Given the description of an element on the screen output the (x, y) to click on. 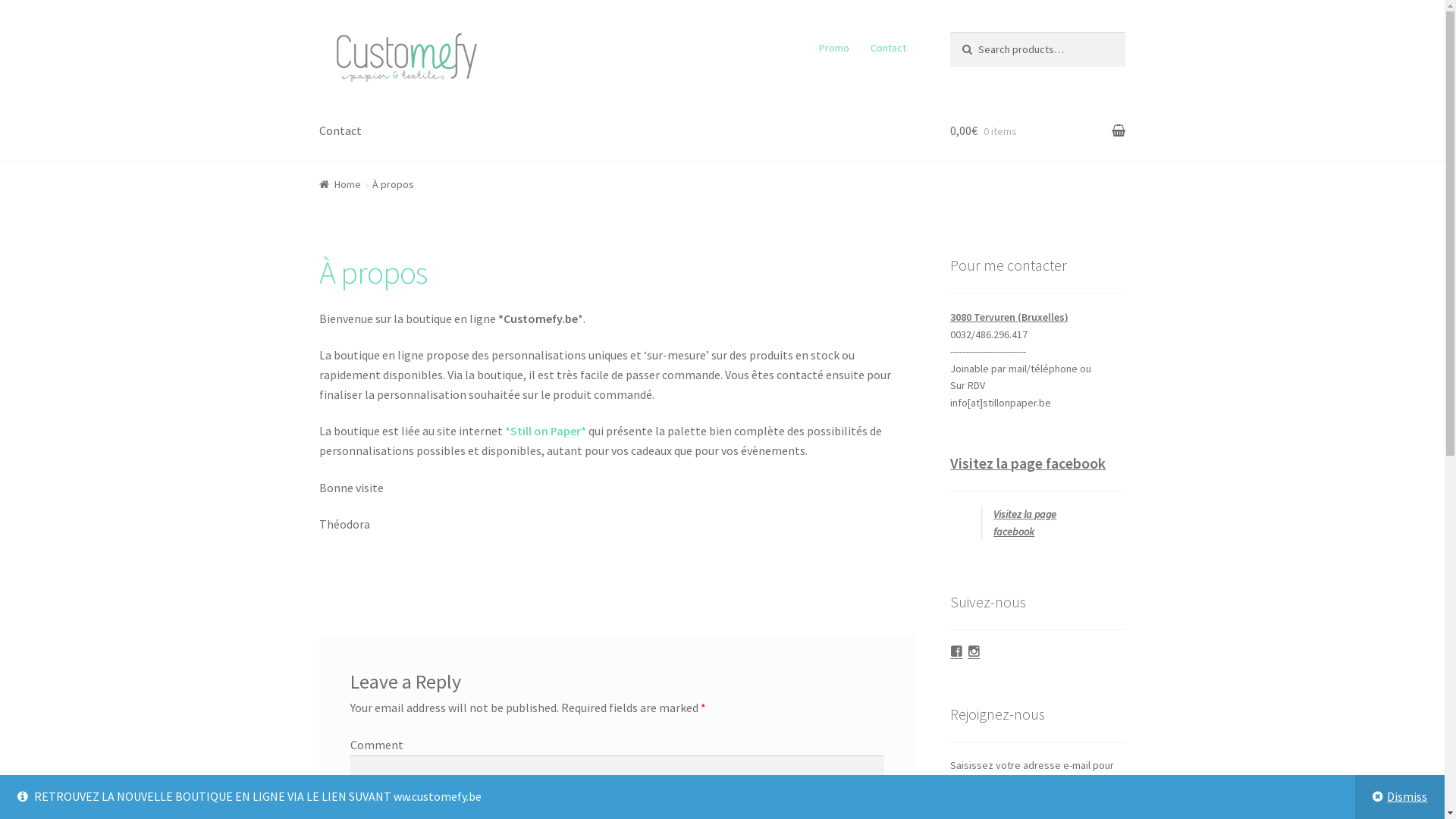
Skip to navigation Element type: text (366, 41)
Visitez la page facebook Element type: text (1024, 522)
Visitez la page facebook Element type: text (1027, 462)
Home Element type: text (340, 184)
*Still on Paper* Element type: text (545, 430)
Promo Element type: text (834, 47)
Contact Element type: text (887, 47)
Skip to content Element type: text (359, 41)
3080 Tervuren (Bruxelles) Element type: text (1009, 316)
Contact Element type: text (340, 130)
Search Element type: text (981, 46)
